Given the description of an element on the screen output the (x, y) to click on. 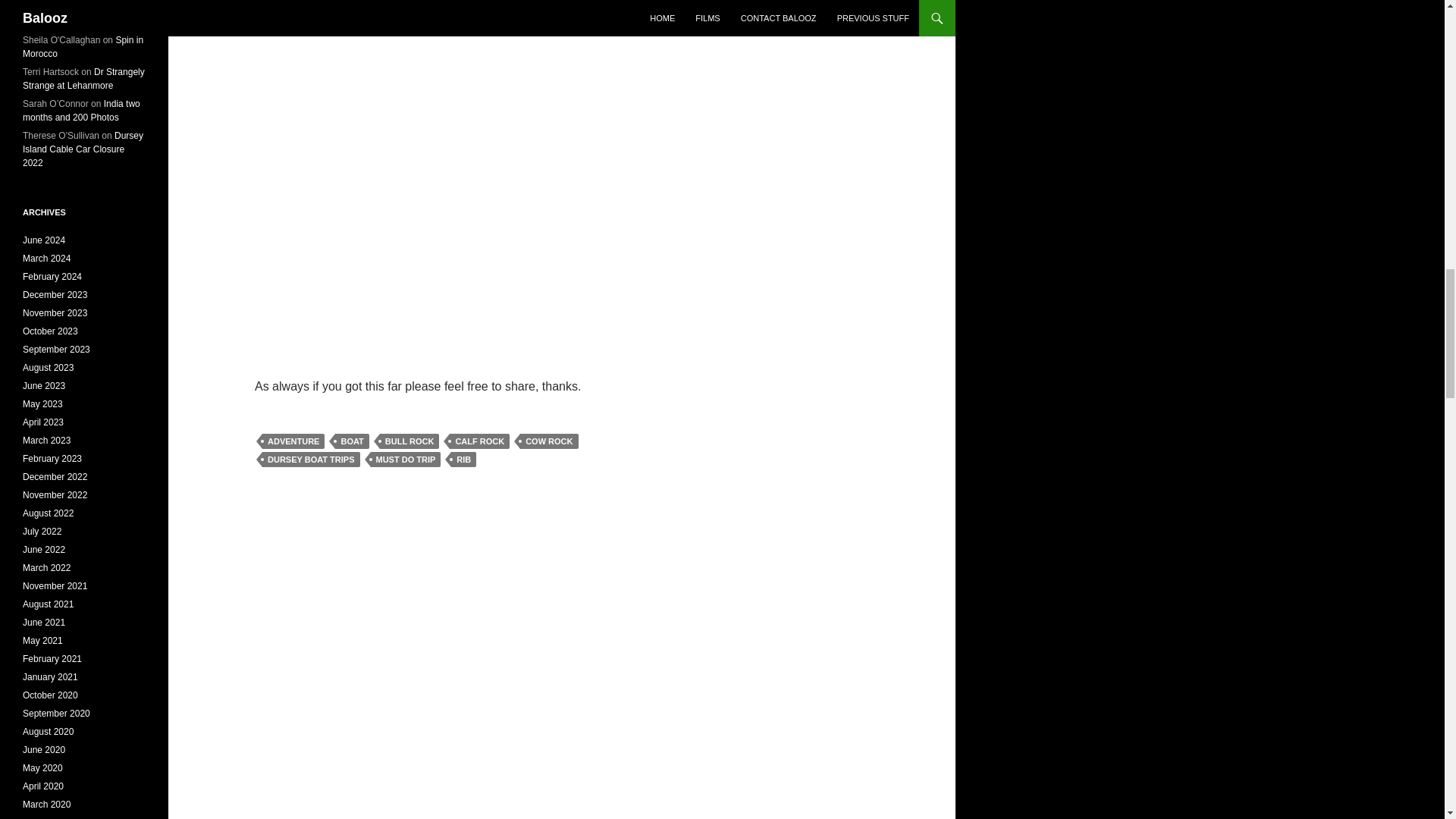
MUST DO TRIP (405, 459)
DURSEY BOAT TRIPS (310, 459)
BOAT (351, 441)
RIB (463, 459)
COW ROCK (548, 441)
CALF ROCK (479, 441)
ADVENTURE (293, 441)
BULL ROCK (409, 441)
